Given the description of an element on the screen output the (x, y) to click on. 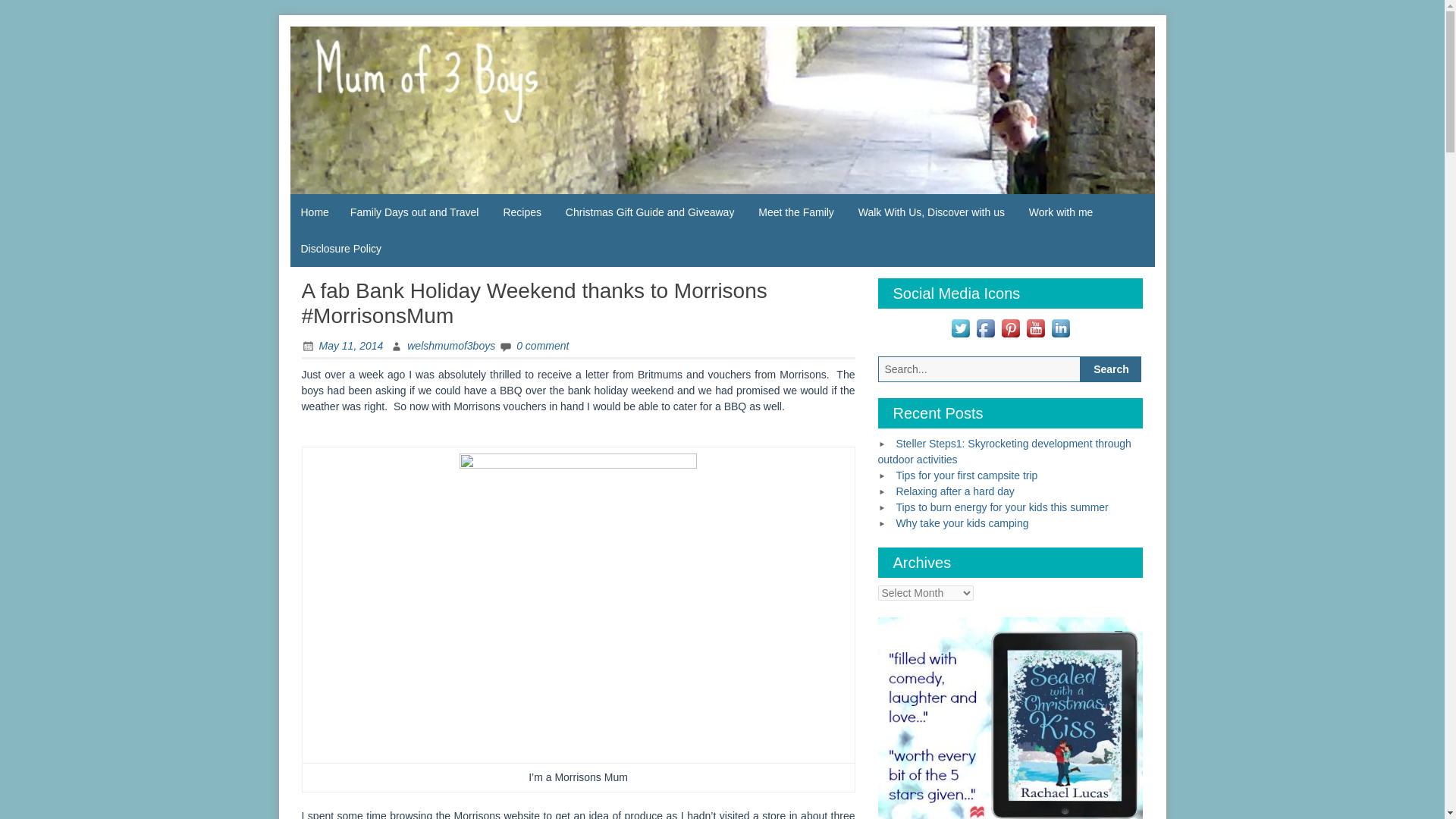
Search (1110, 369)
May 11, 2014 (342, 345)
Search (1110, 369)
Christmas Gift Guide and Giveaway (649, 212)
Search for: (979, 369)
0 comment (534, 345)
Home (314, 212)
Visit Us On Youtube (1035, 326)
Visit Us On Linkedin (1060, 326)
Disclosure Policy (340, 248)
